Given the description of an element on the screen output the (x, y) to click on. 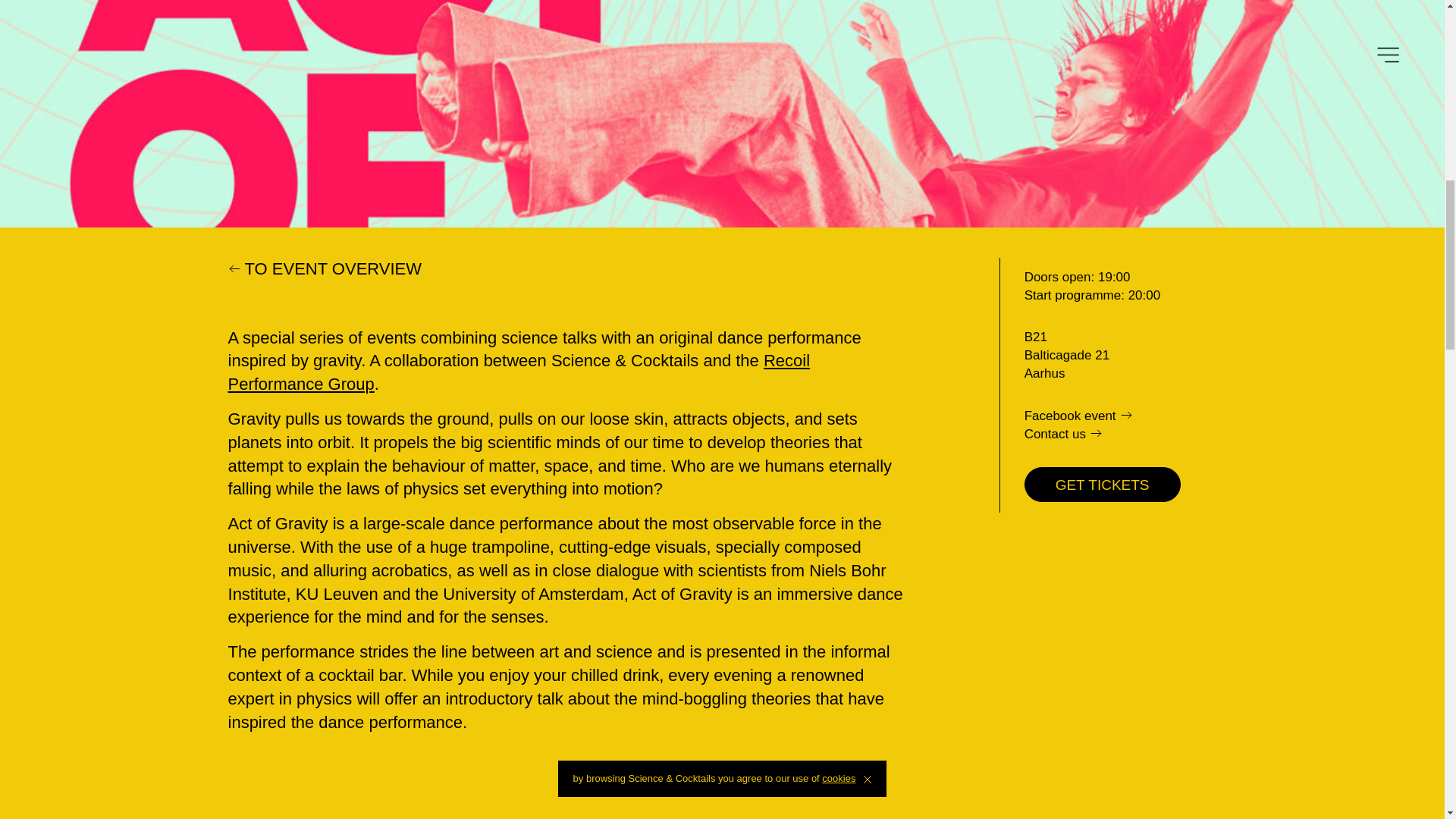
Recoil Performance Group (519, 372)
TO EVENT OVERVIEW (325, 269)
Contact us (1121, 434)
GET TICKETS (1102, 485)
GET TICKETS (1102, 484)
Facebook event (1121, 416)
